Given the description of an element on the screen output the (x, y) to click on. 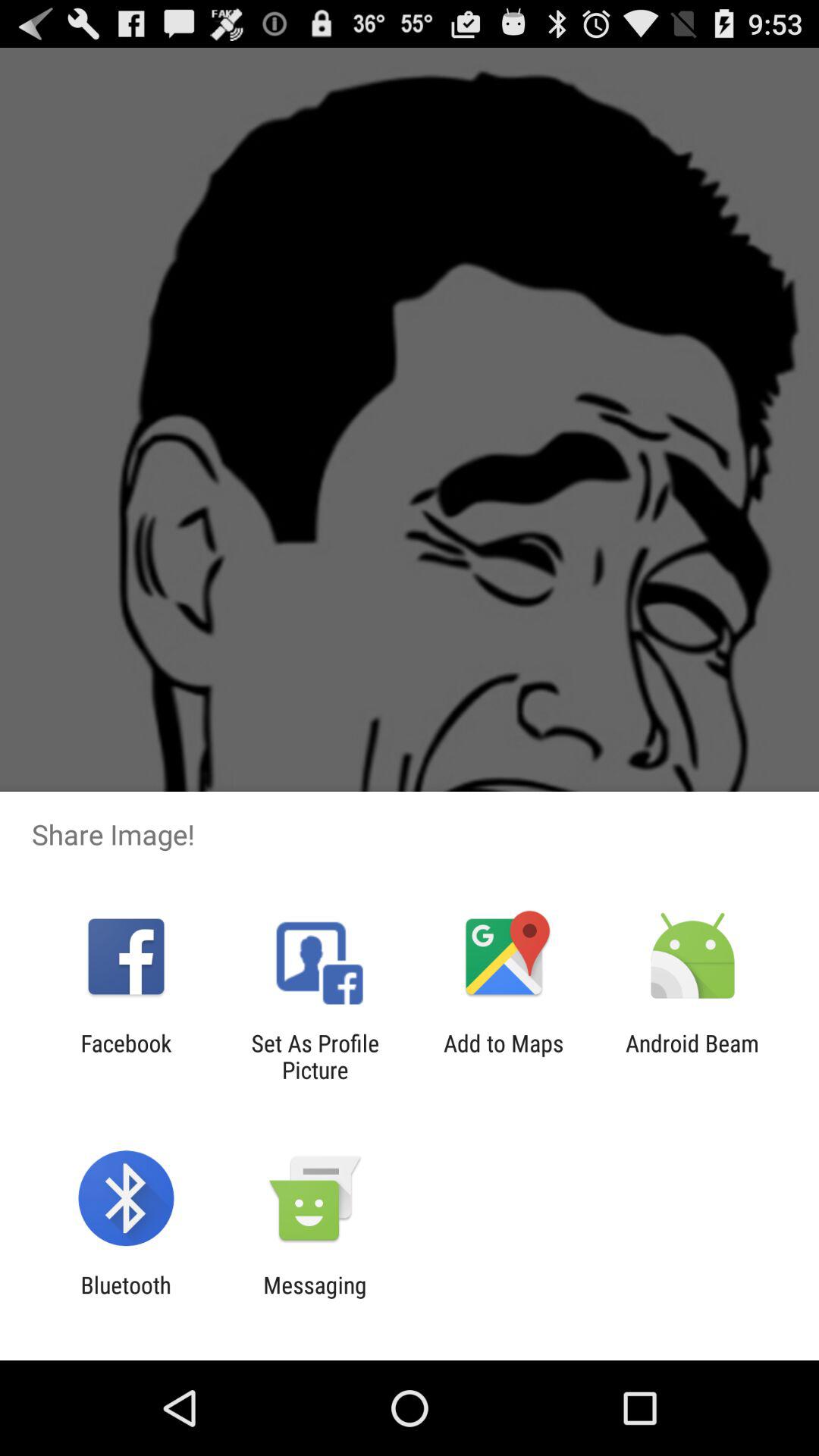
open icon next to bluetooth item (314, 1298)
